Given the description of an element on the screen output the (x, y) to click on. 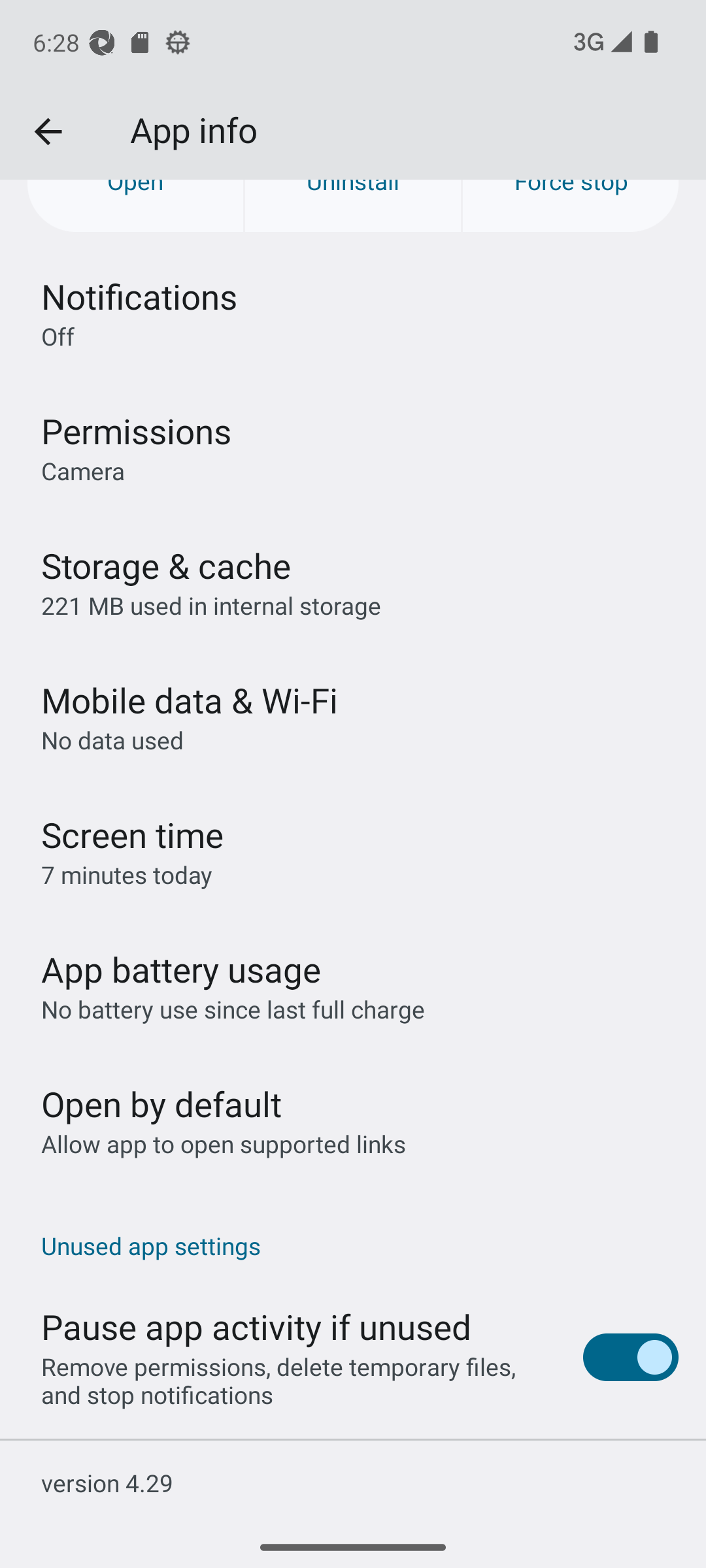
Navigate up (48, 131)
Notifications Off (353, 312)
Permissions Camera (353, 446)
Storage & cache 221 MB used in internal storage (353, 581)
Mobile data & Wi‑Fi No data used (353, 716)
Screen time 7 minutes today (353, 851)
Open by default Allow app to open supported links (353, 1120)
